Given the description of an element on the screen output the (x, y) to click on. 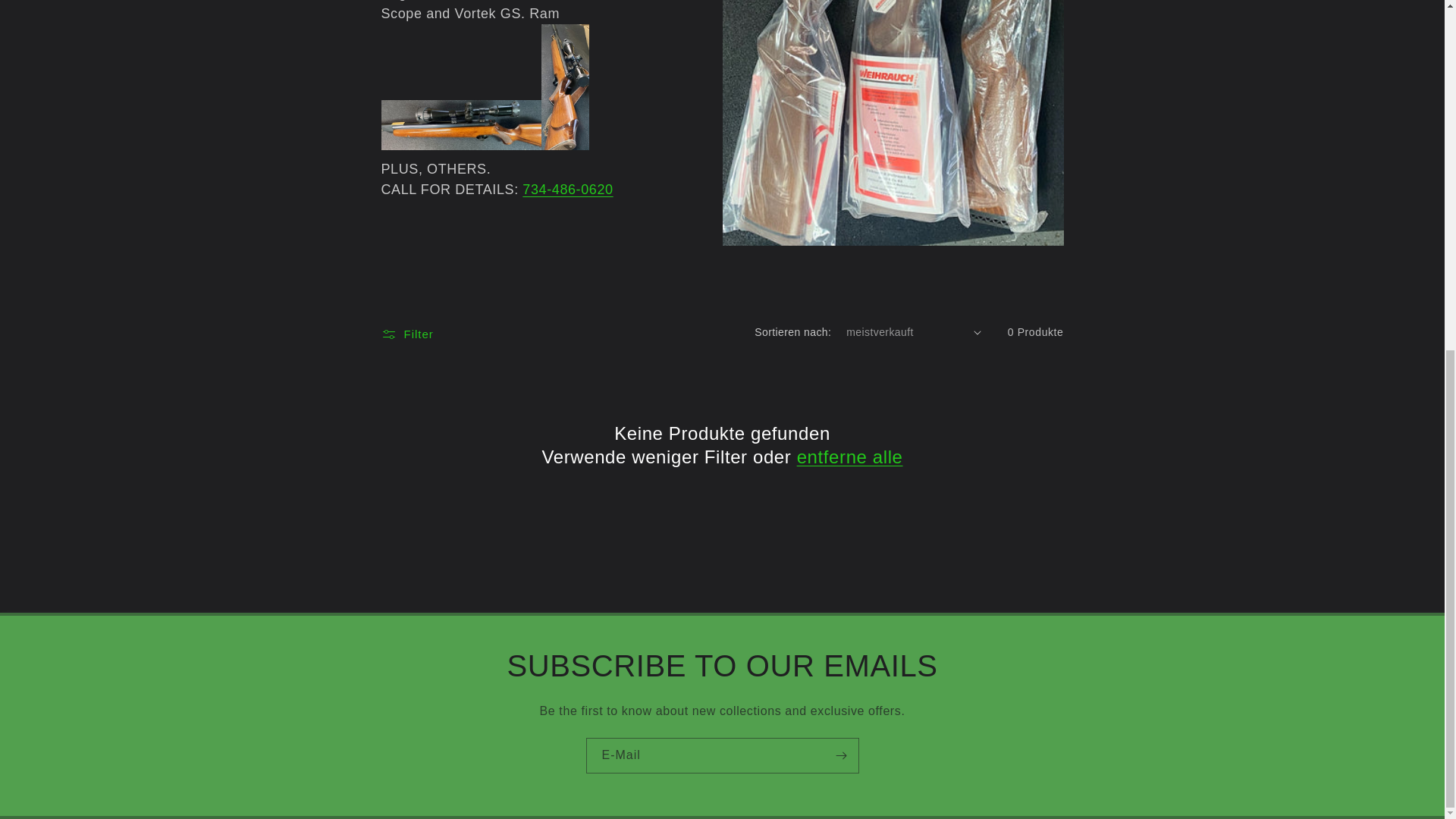
entferne alle (849, 456)
734-486-0620 (567, 189)
